Given the description of an element on the screen output the (x, y) to click on. 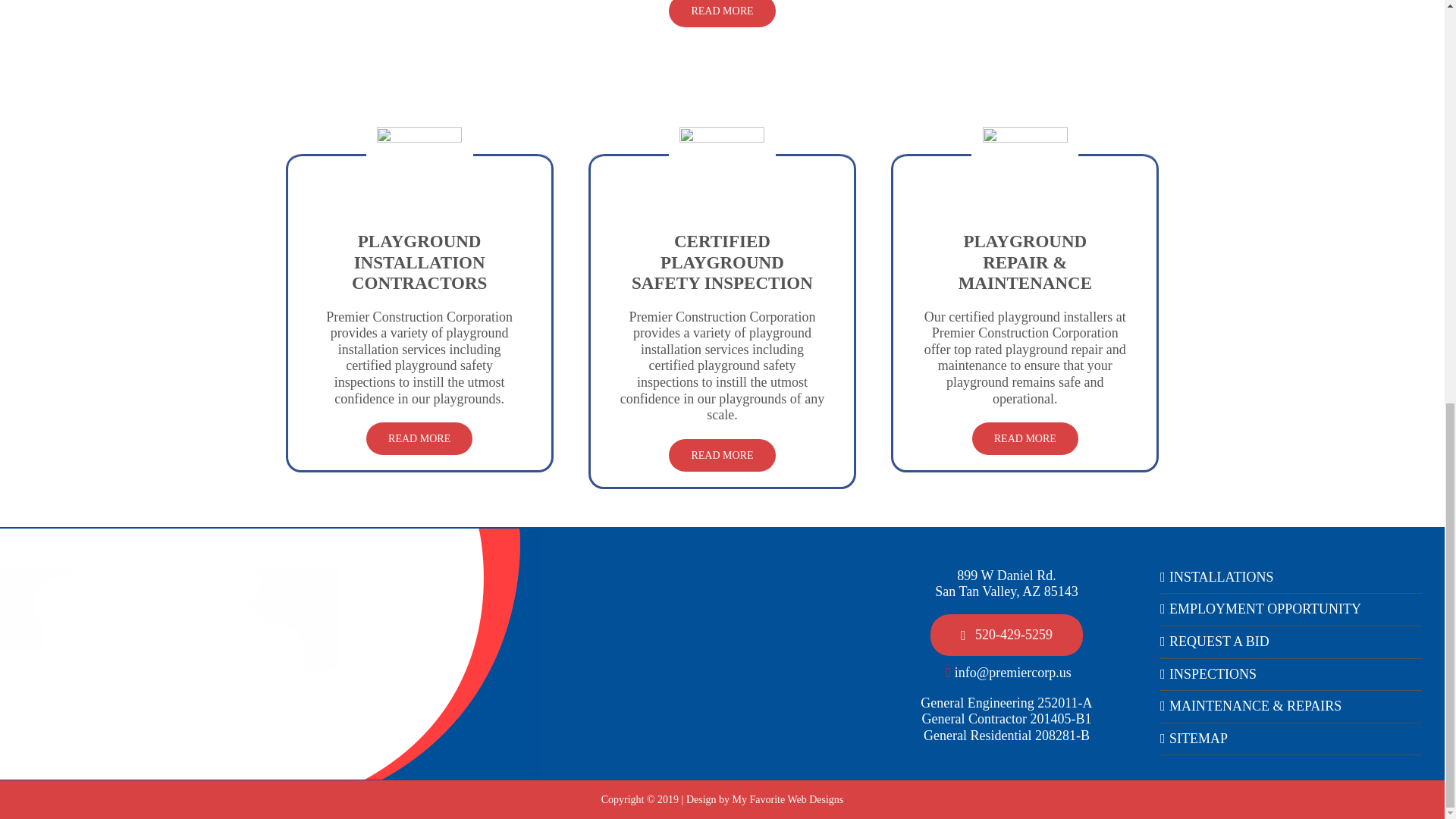
READ MORE (721, 454)
REQUEST A BID (1291, 641)
INSPECTIONS (1291, 674)
READ MORE (721, 13)
520-429-5259 (1006, 635)
EMPLOYMENT OPPORTUNITY (1291, 609)
READ MORE (418, 438)
INSTALLATIONS (1291, 577)
SITEMAP (1291, 739)
READ MORE (1025, 438)
My Favorite Web Designs (788, 799)
